Given the description of an element on the screen output the (x, y) to click on. 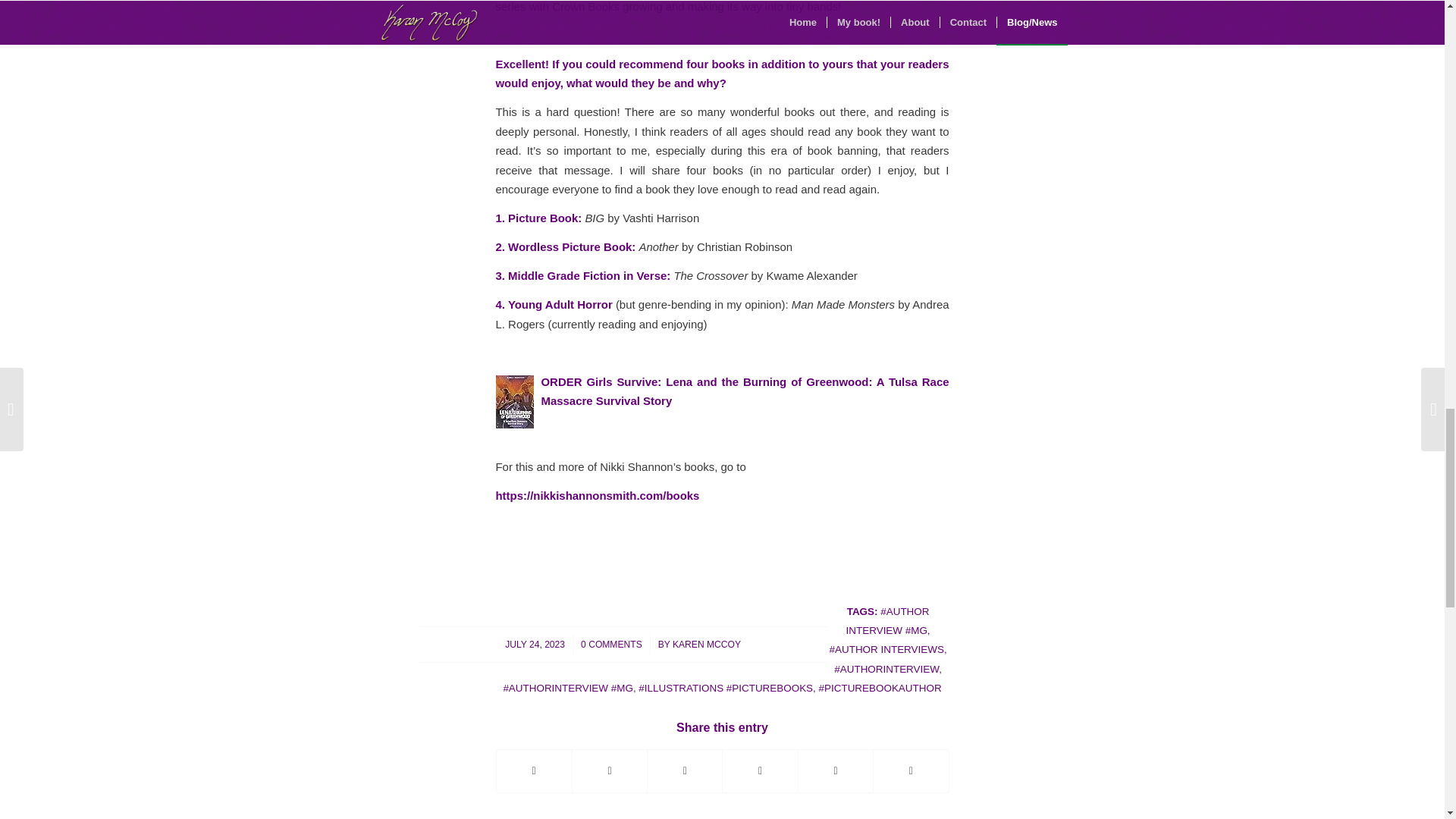
Posts by Karen McCoy (706, 644)
KAREN MCCOY (706, 644)
0 COMMENTS (611, 644)
